Given the description of an element on the screen output the (x, y) to click on. 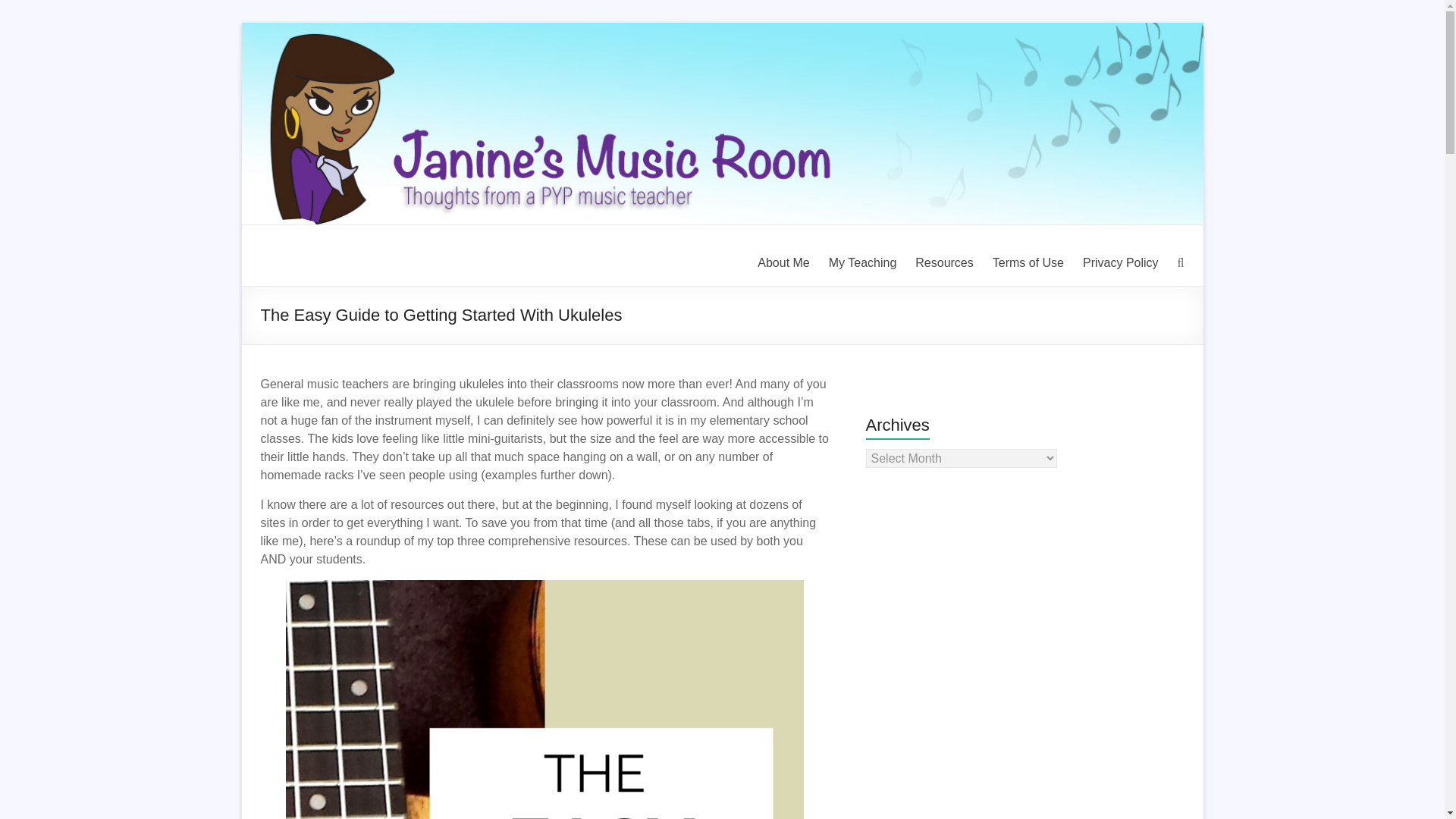
My Teaching (862, 262)
Janine's Music Room (308, 285)
About Me (783, 262)
Privacy Policy (1120, 262)
Terms of Use (1028, 262)
Resources (943, 262)
Janine's Music Room (308, 285)
